Given the description of an element on the screen output the (x, y) to click on. 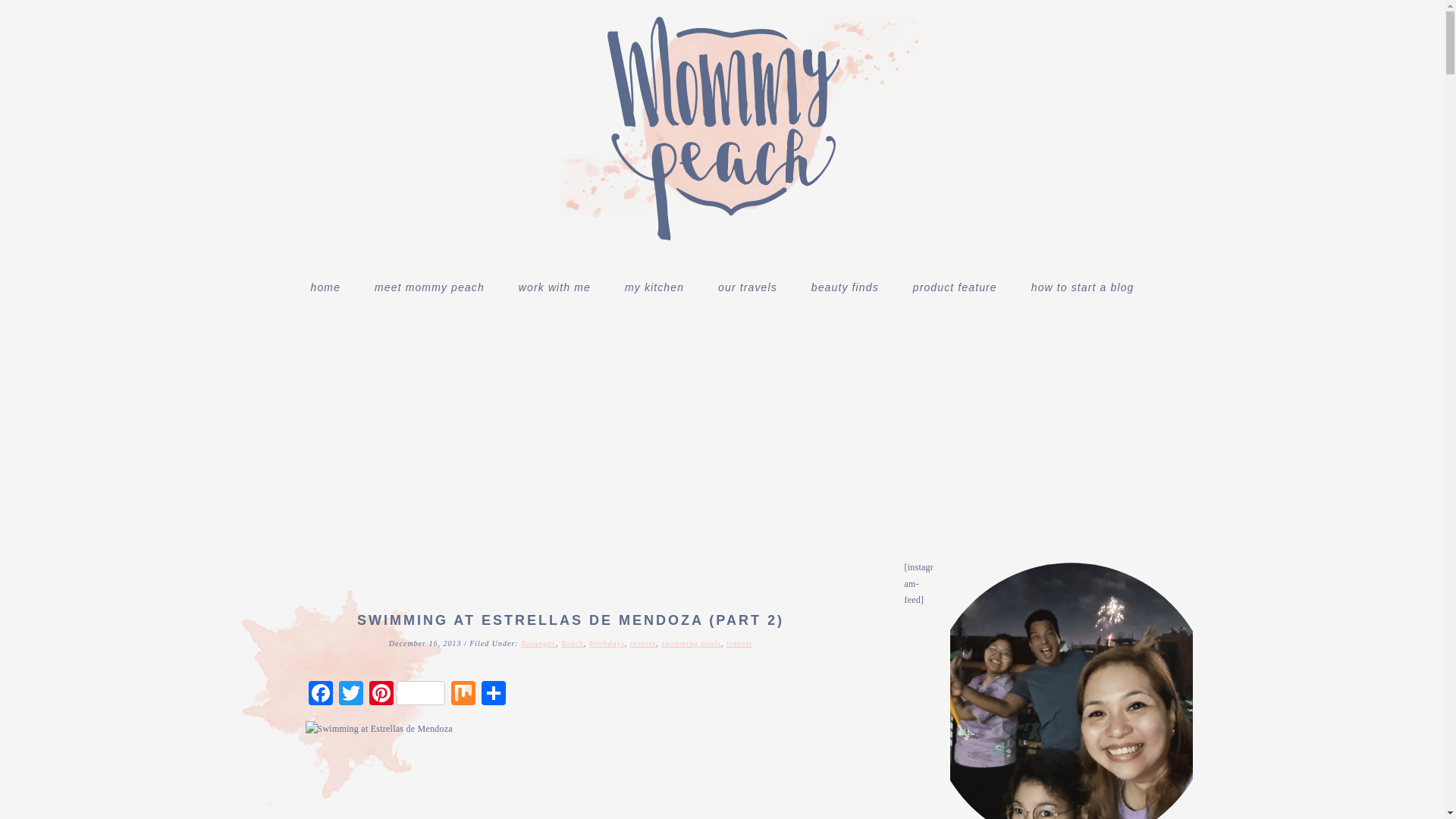
Share (492, 694)
Mix (461, 694)
Batangas (538, 643)
Twitter (349, 694)
meet mommy peach (429, 286)
Pinterest (405, 694)
home (325, 286)
Mix (461, 694)
Facebook (319, 694)
work with me (554, 286)
travels (739, 643)
Pinterest (405, 694)
